Given the description of an element on the screen output the (x, y) to click on. 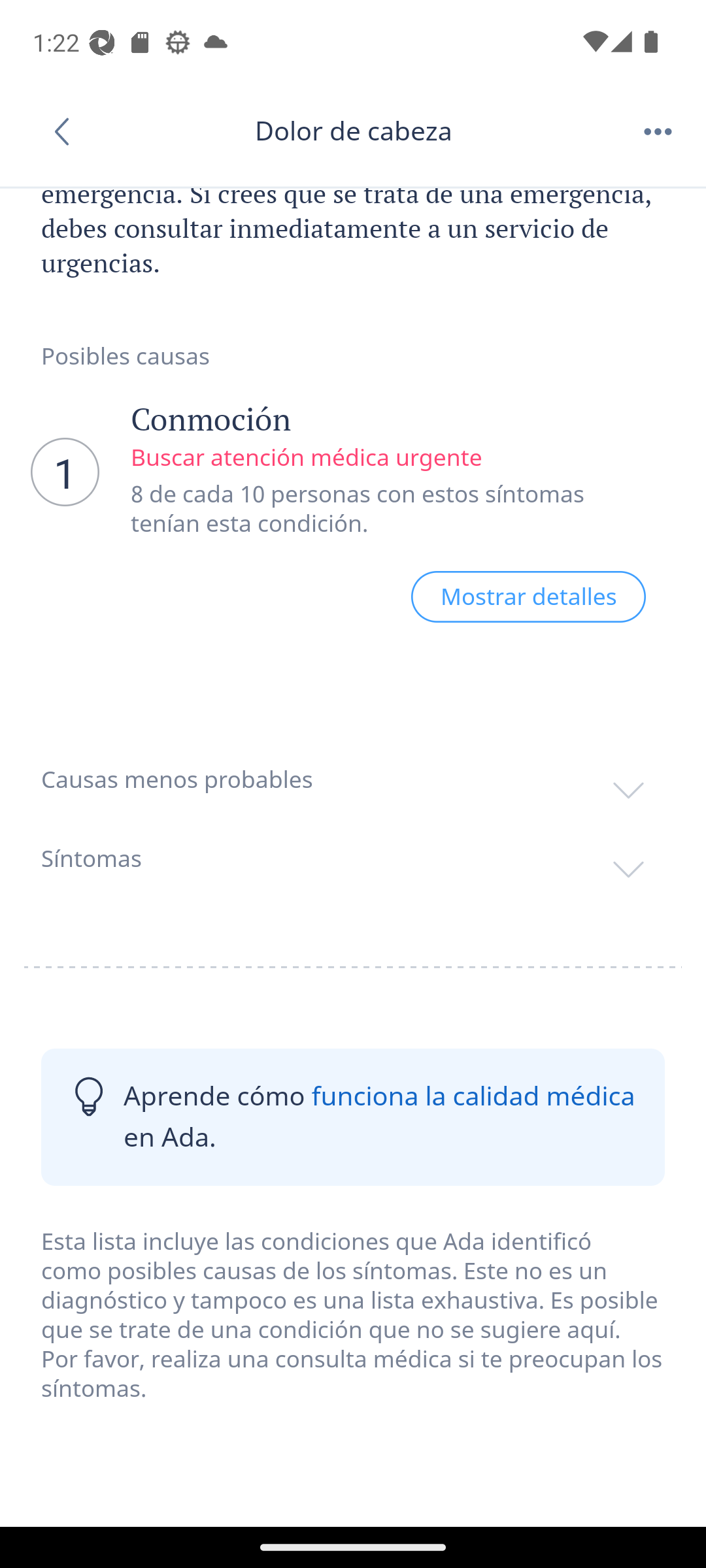
Go back, Navigates to the previous screen (68, 131)
Mostrar detalles (527, 596)
Causas menos probables  (352, 779)
Síntomas  (352, 857)
Aprende cómo funciona la calidad médica en Ada. (352, 1116)
